Given the description of an element on the screen output the (x, y) to click on. 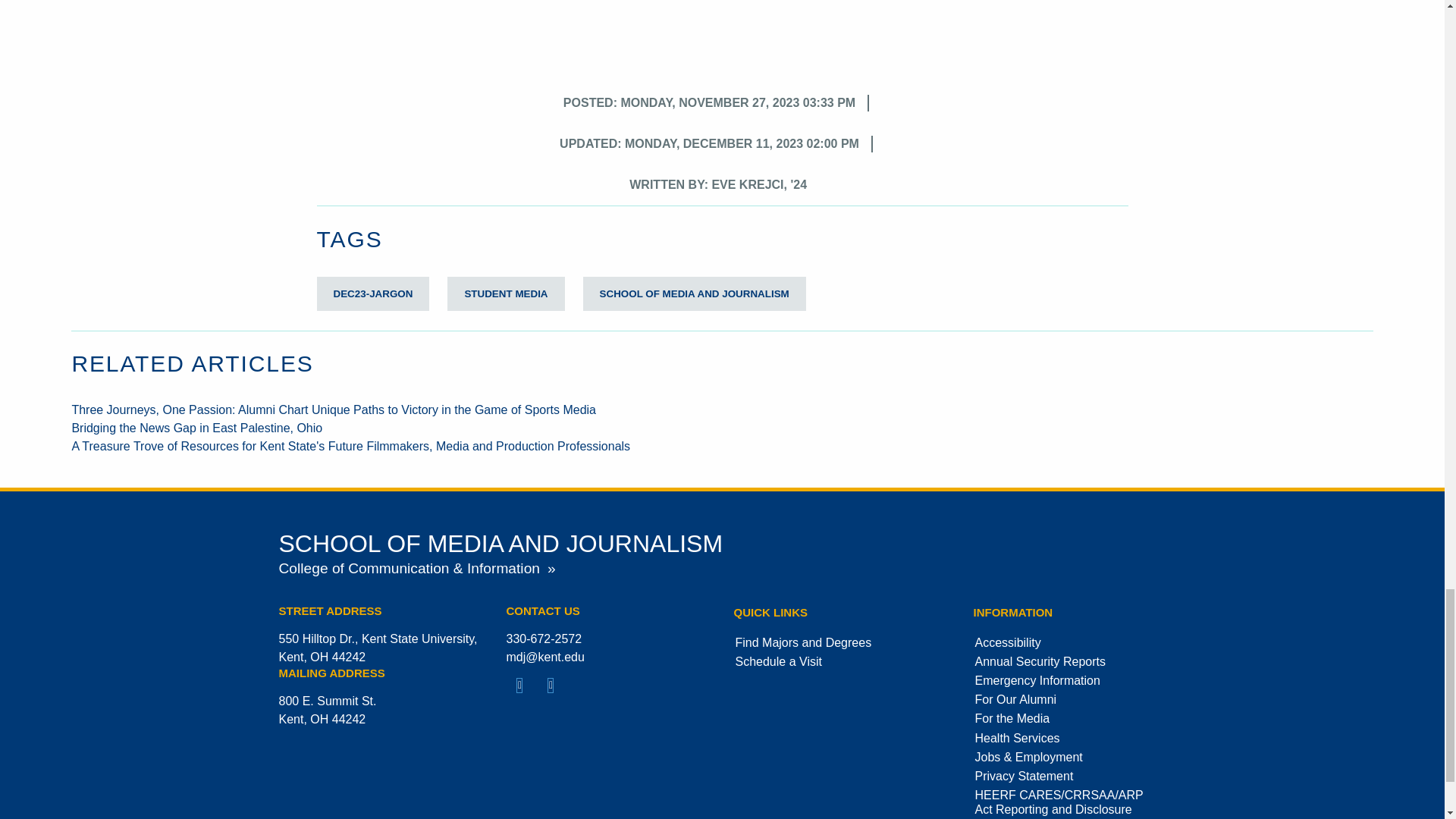
Instagram (550, 686)
Facebook (520, 687)
Instagram (550, 687)
Facebook (520, 686)
